Given the description of an element on the screen output the (x, y) to click on. 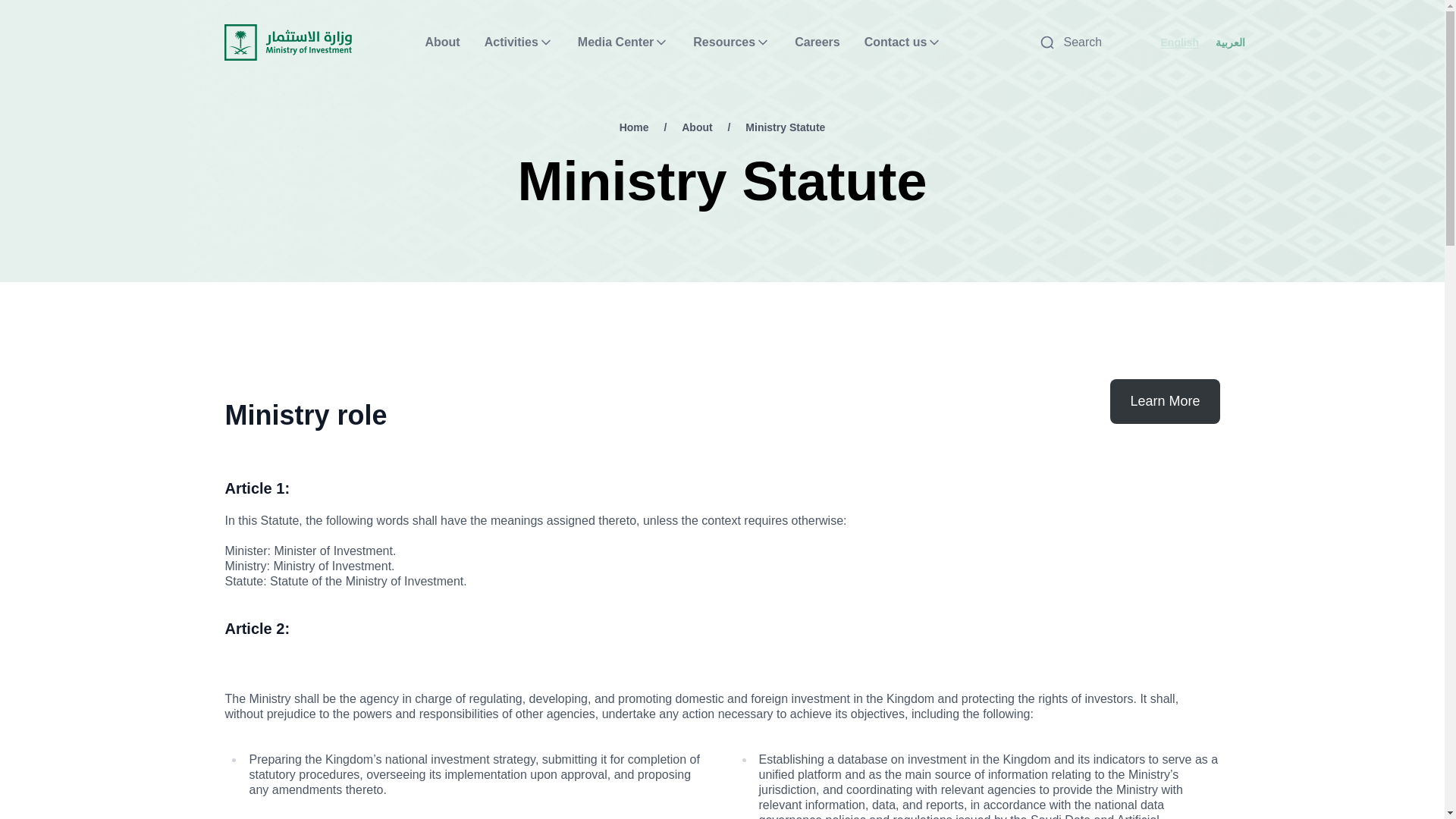
Activities (518, 42)
Resources (731, 42)
Media Center (623, 42)
Contact us (903, 42)
Language switcher : Arabic (1230, 42)
About (442, 42)
Careers (817, 42)
